Given the description of an element on the screen output the (x, y) to click on. 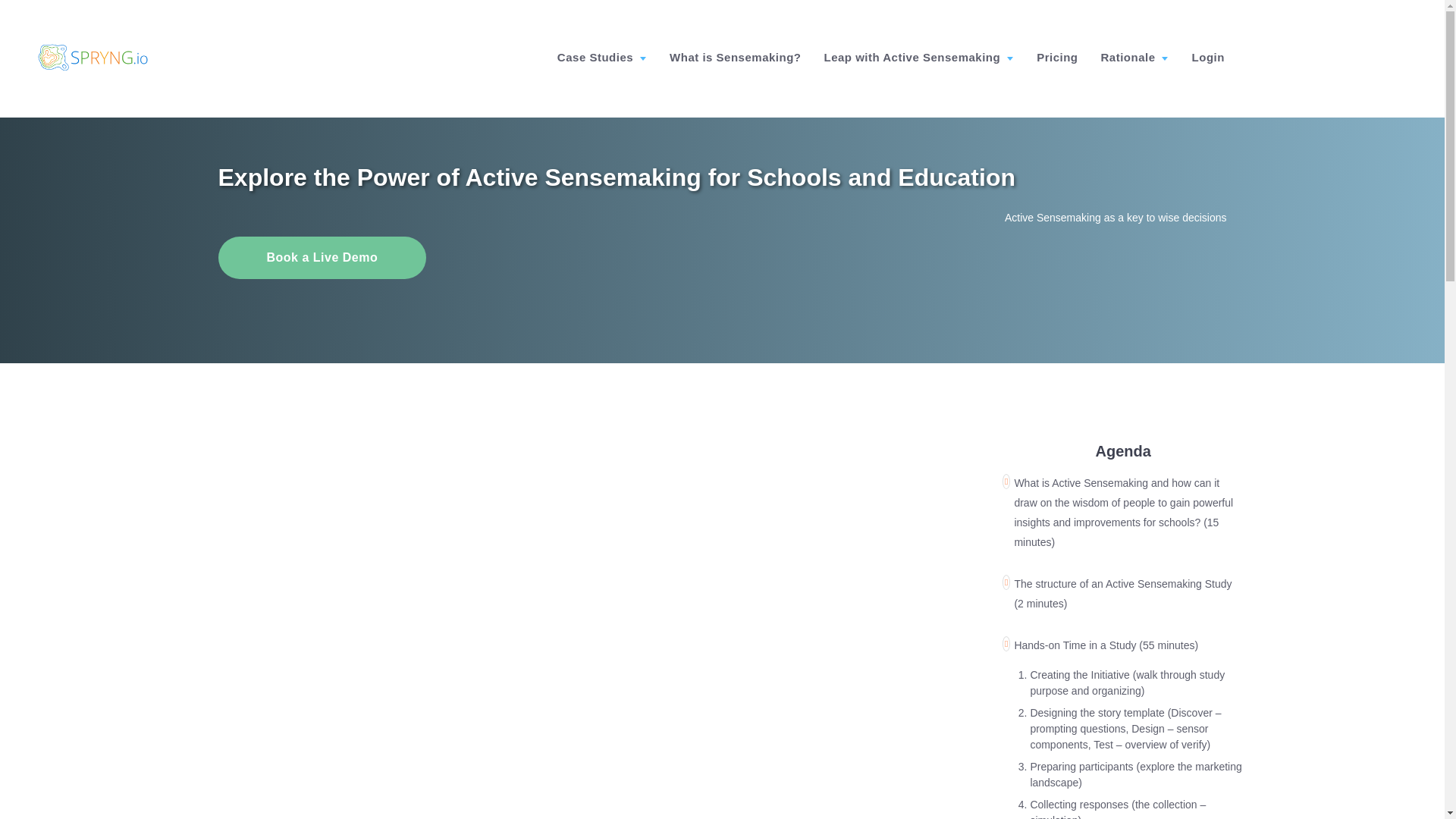
What is Sensemaking? (735, 57)
Book a Live Demo (322, 257)
Case Studies (602, 57)
Rationale (1134, 57)
Login (1208, 57)
Pricing (1057, 57)
Leap with Active Sensemaking (918, 57)
